Given the description of an element on the screen output the (x, y) to click on. 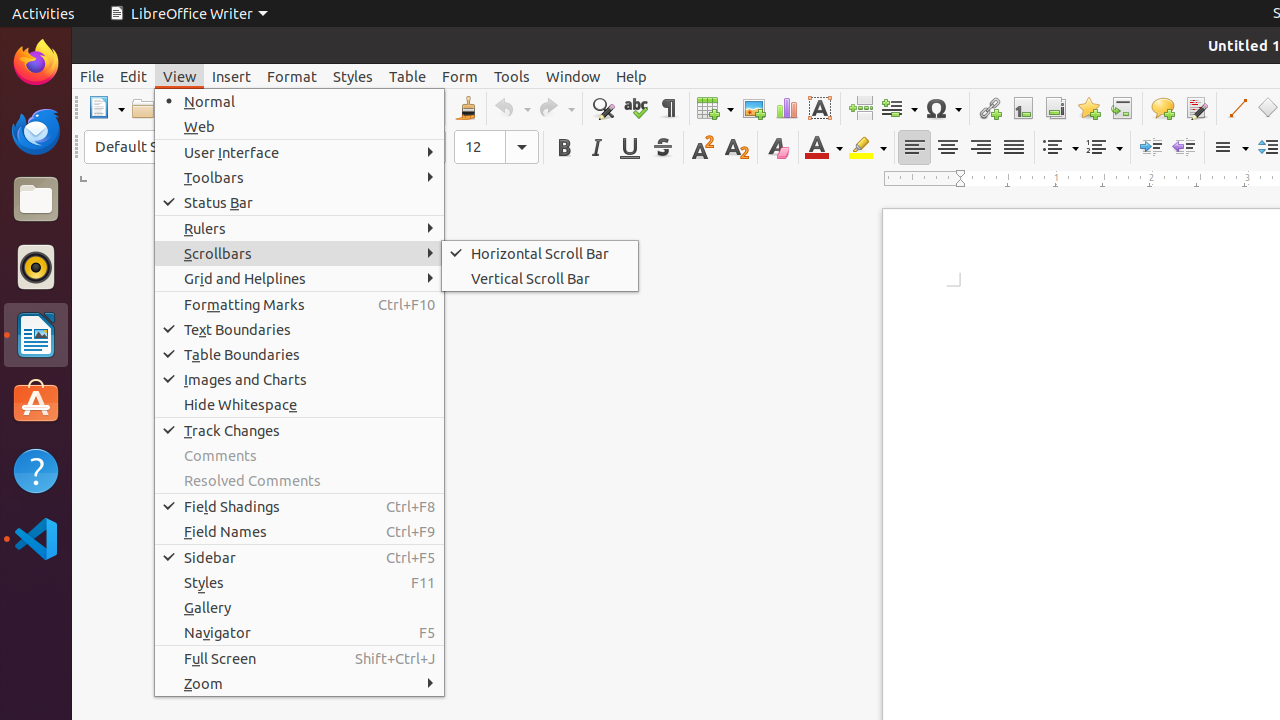
Gallery Element type: menu-item (299, 607)
Image Element type: push-button (753, 108)
Table Boundaries Element type: check-menu-item (299, 354)
Text Box Element type: push-button (819, 108)
Superscript Element type: toggle-button (703, 147)
